Given the description of an element on the screen output the (x, y) to click on. 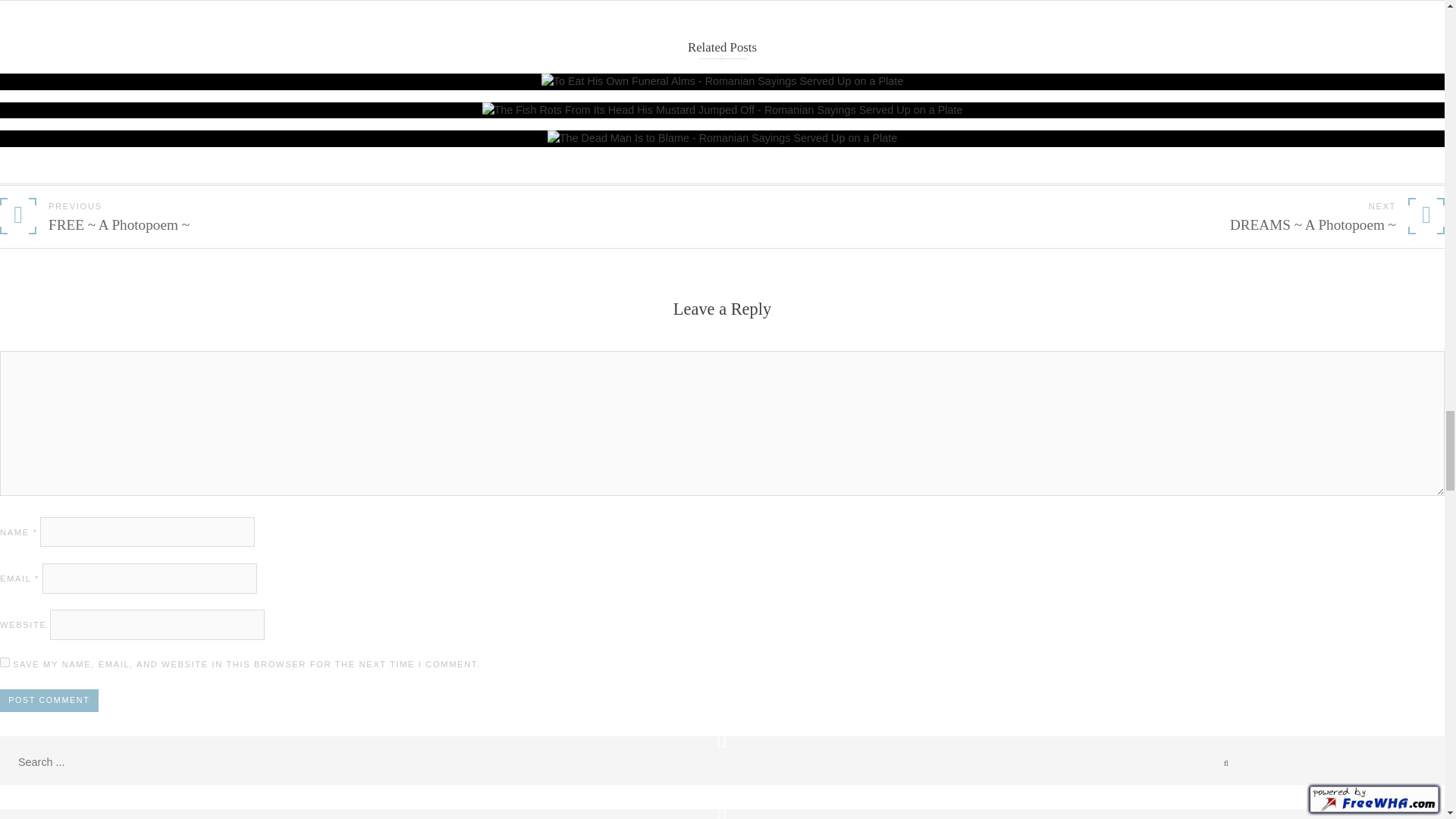
Post Comment (49, 700)
yes (5, 662)
Search for: (85, 762)
Post Comment (49, 700)
